Given the description of an element on the screen output the (x, y) to click on. 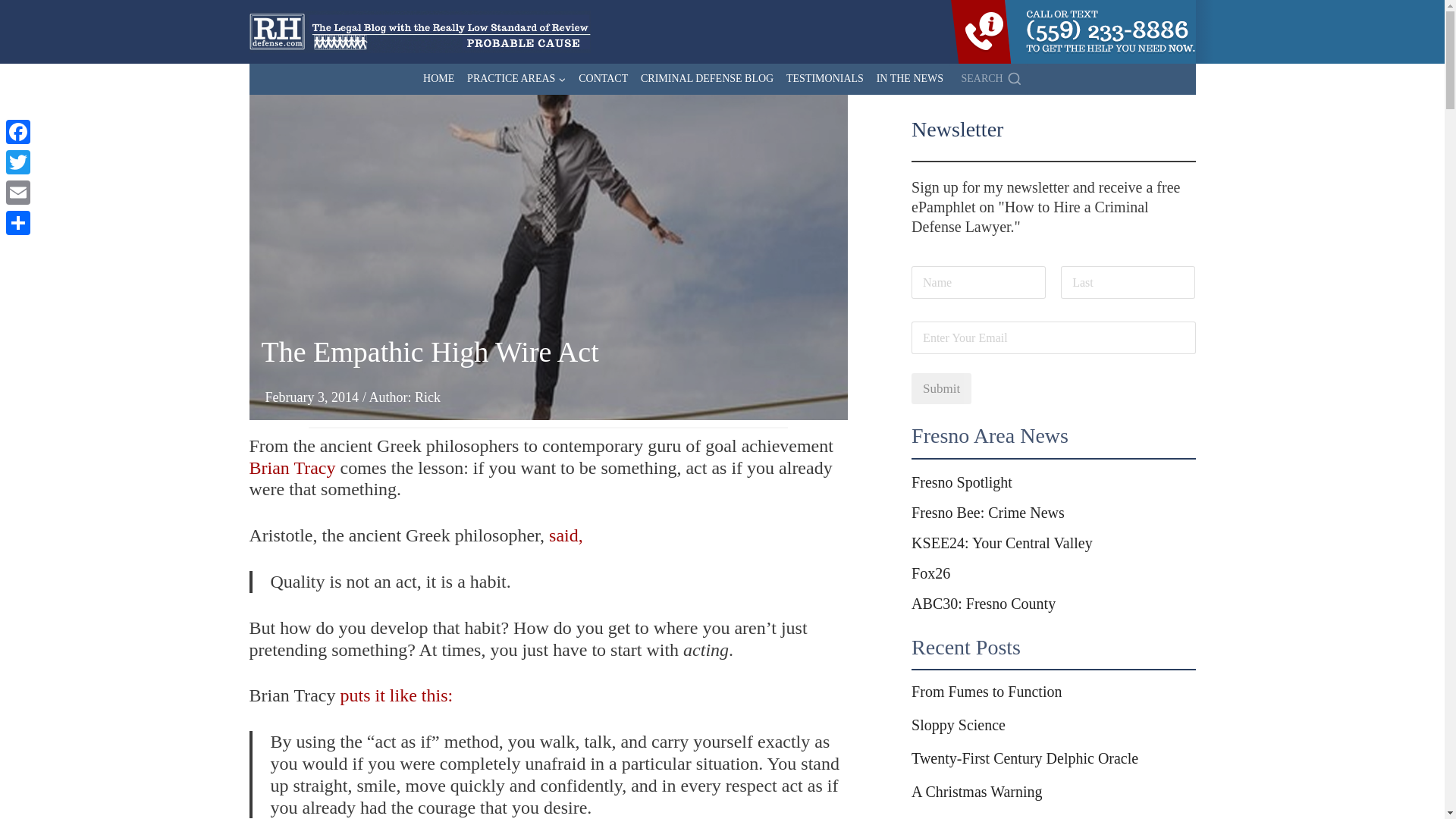
World's Online Quotations (565, 535)
PRACTICE AREAS (516, 79)
Brian Tracy (291, 467)
IN THE NEWS (909, 79)
Facebook (17, 132)
Email (17, 192)
Brian Tracy's website (291, 467)
Brian Tracy's Pinterest board with quote (395, 695)
puts it like this: (395, 695)
CRIMINAL DEFENSE BLOG (707, 79)
